Given the description of an element on the screen output the (x, y) to click on. 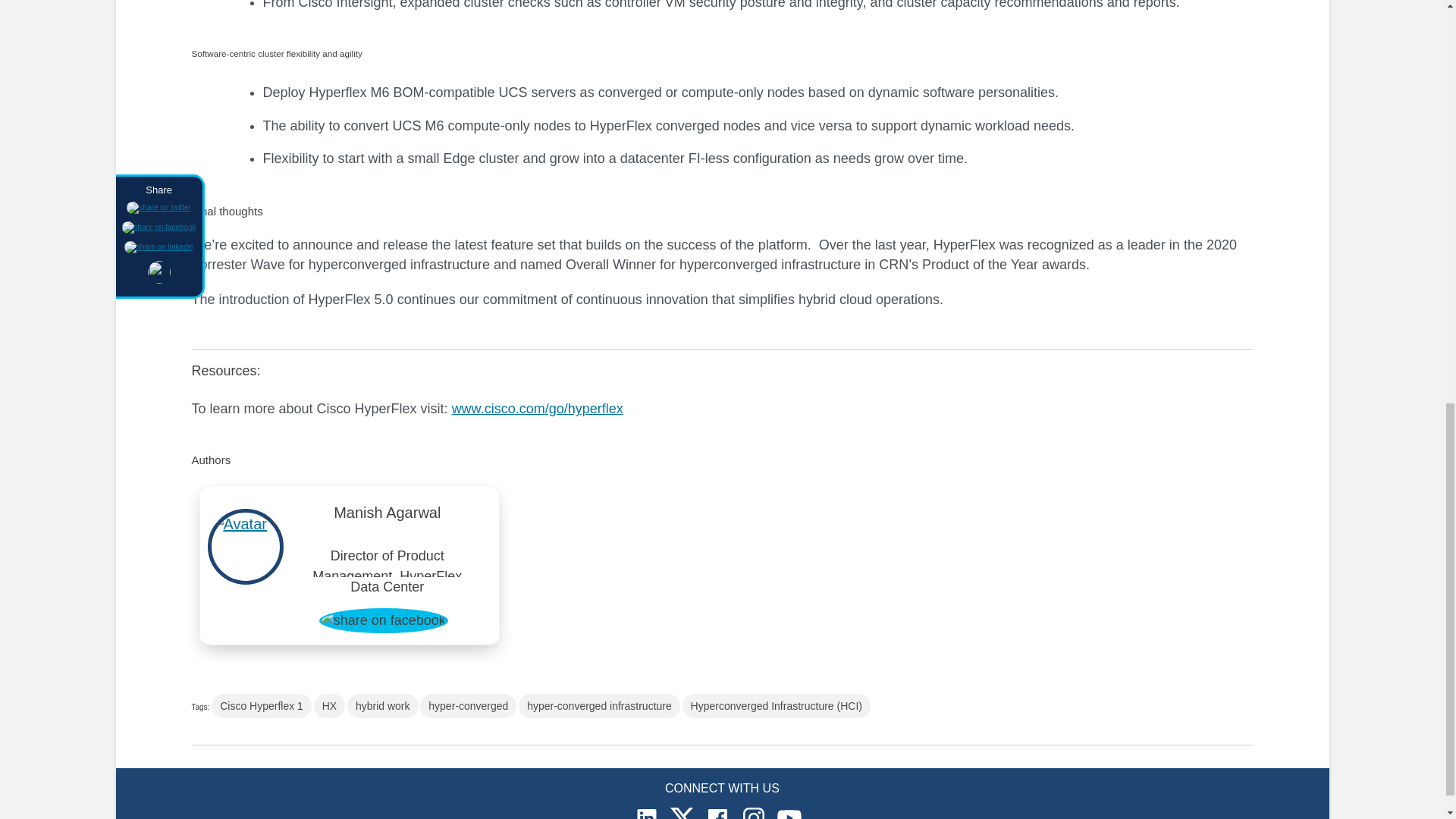
HX (329, 705)
hybrid work (383, 705)
Cisco Hyperflex 1 (261, 705)
hyper-converged infrastructure (598, 705)
hyper-converged (468, 705)
Manish Agarwal (387, 516)
